Given the description of an element on the screen output the (x, y) to click on. 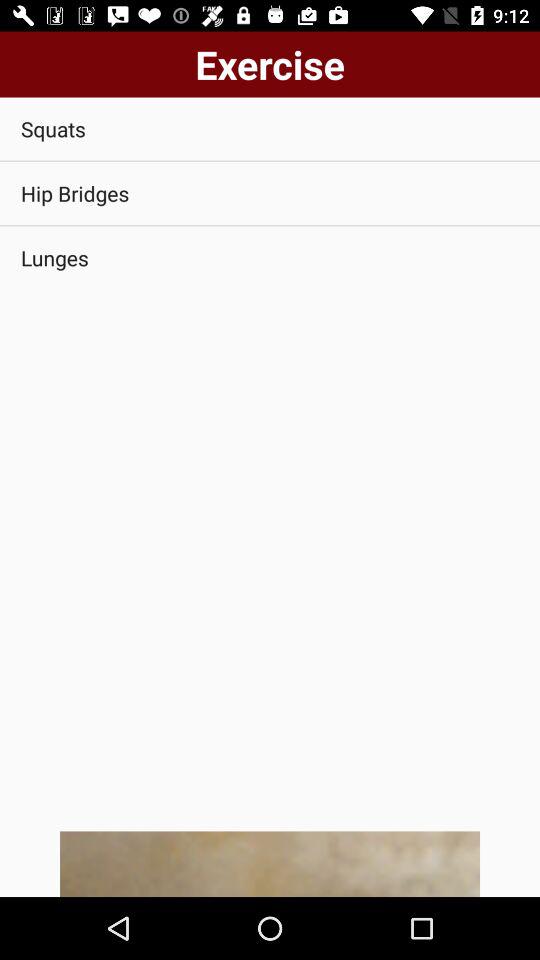
press the icon below exercise (270, 128)
